Given the description of an element on the screen output the (x, y) to click on. 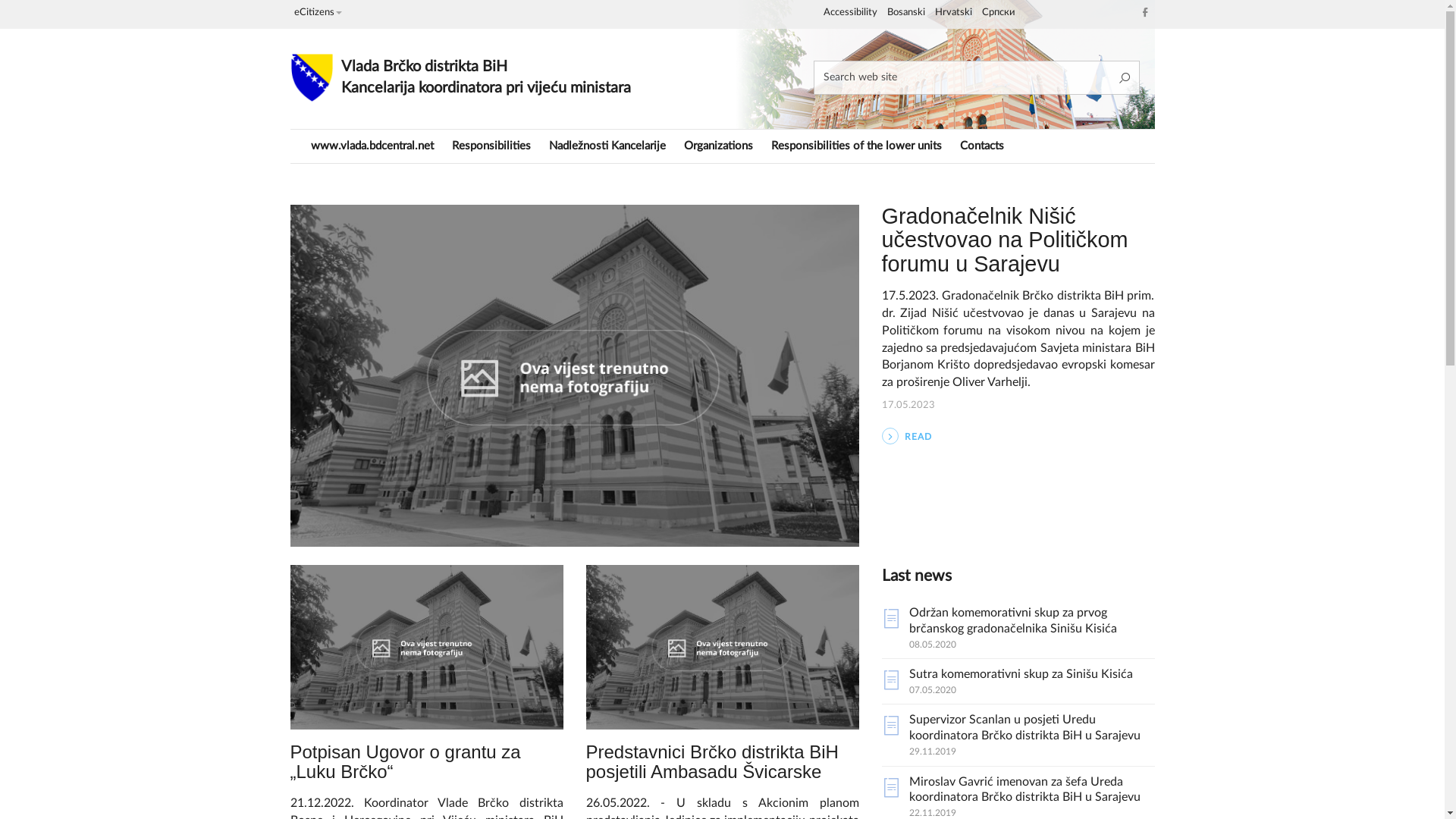
Responsibilities Element type: text (490, 146)
Responsibilities of the lower units Element type: text (855, 146)
Organizations Element type: text (718, 146)
Bosanski Element type: text (906, 12)
www.vlada.bdcentral.net Element type: text (371, 146)
Accessibility Element type: text (850, 12)
eCitizens Element type: text (318, 12)
Hrvatski Element type: text (952, 12)
Contacts Element type: text (981, 146)
